Given the description of an element on the screen output the (x, y) to click on. 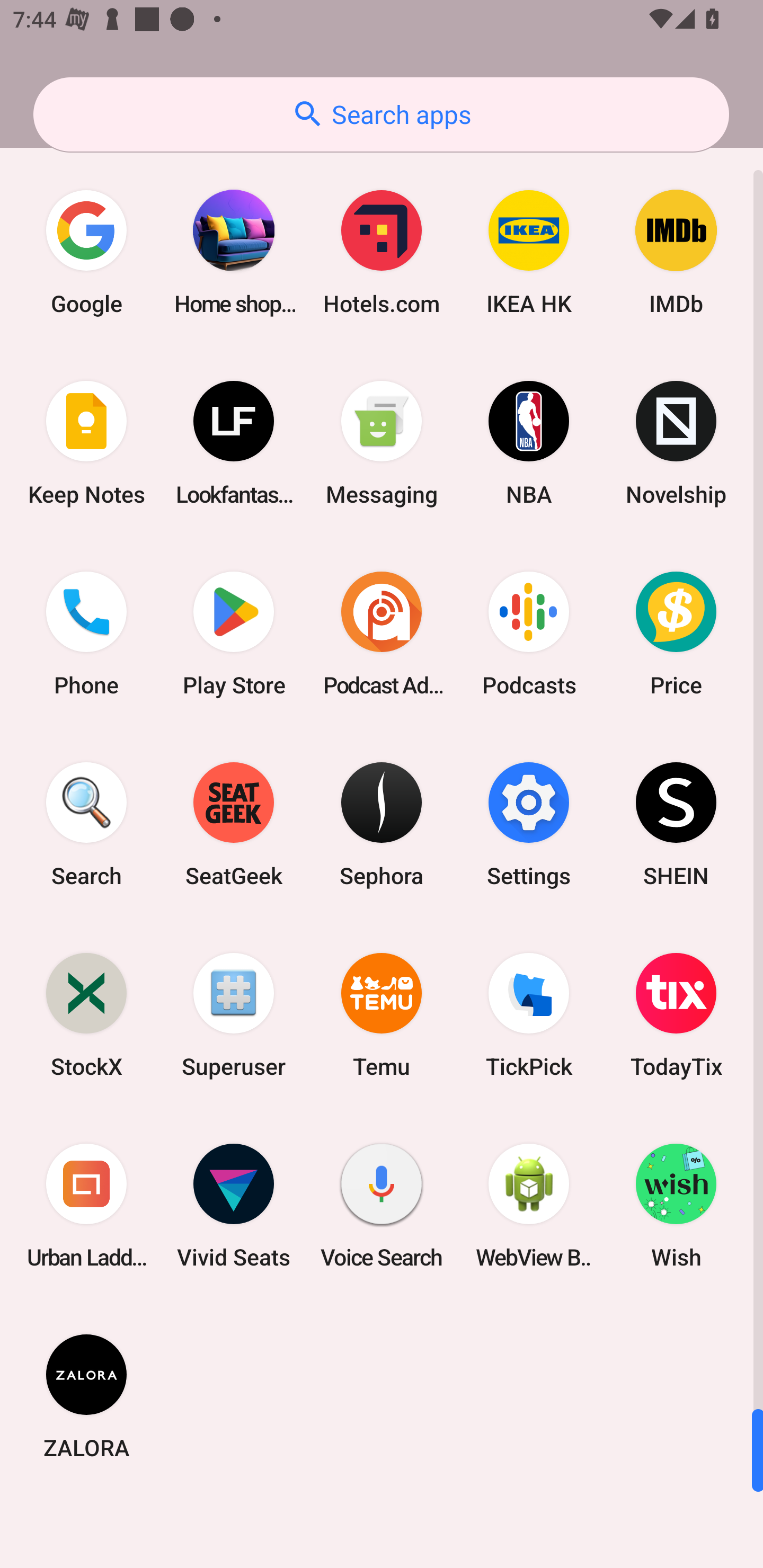
  Search apps (381, 114)
Google (86, 252)
Home shopping (233, 252)
Hotels.com (381, 252)
IKEA HK (528, 252)
IMDb (676, 252)
Keep Notes (86, 442)
Lookfantastic (233, 442)
Messaging (381, 442)
NBA (528, 442)
Novelship (676, 442)
Phone (86, 633)
Play Store (233, 633)
Podcast Addict (381, 633)
Podcasts (528, 633)
Price (676, 633)
Search (86, 823)
SeatGeek (233, 823)
Sephora (381, 823)
Settings (528, 823)
SHEIN (676, 823)
StockX (86, 1014)
Superuser (233, 1014)
Temu (381, 1014)
TickPick (528, 1014)
TodayTix (676, 1014)
Urban Ladder (86, 1205)
Vivid Seats (233, 1205)
Voice Search (381, 1205)
WebView Browser Tester (528, 1205)
Wish (676, 1205)
ZALORA (86, 1396)
